Given the description of an element on the screen output the (x, y) to click on. 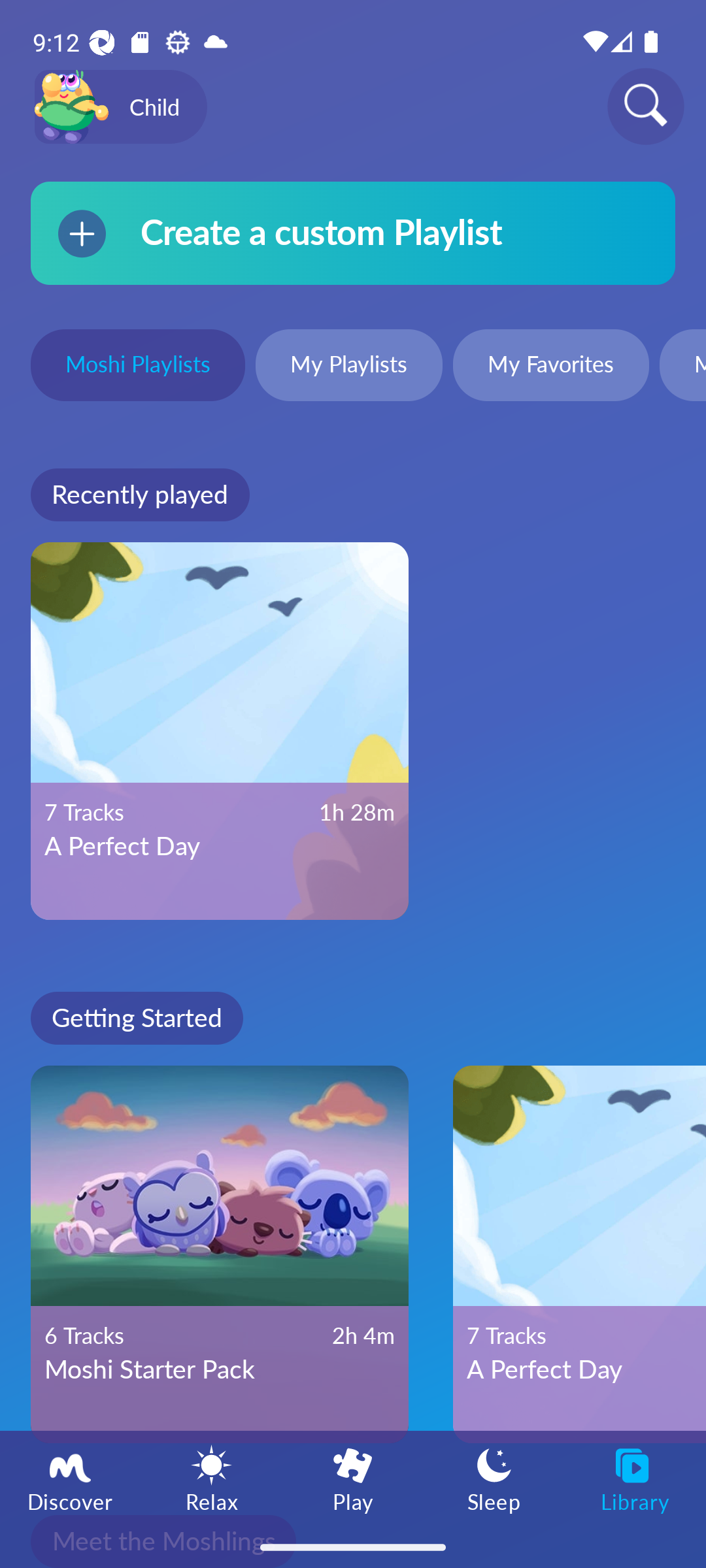
Profile icon Child (120, 107)
Create a custom Playlist (352, 233)
Moshi Playlists (137, 367)
My Playlists (348, 367)
My Favorites (550, 367)
Featured Content 7 Tracks A Perfect Day 1h 28m (219, 731)
Featured Content 6 Tracks Moshi Starter Pack 2h 4m (219, 1254)
Featured Content 7 Tracks A Perfect Day (579, 1254)
Discover (70, 1478)
Relax (211, 1478)
Play (352, 1478)
Sleep (493, 1478)
